Given the description of an element on the screen output the (x, y) to click on. 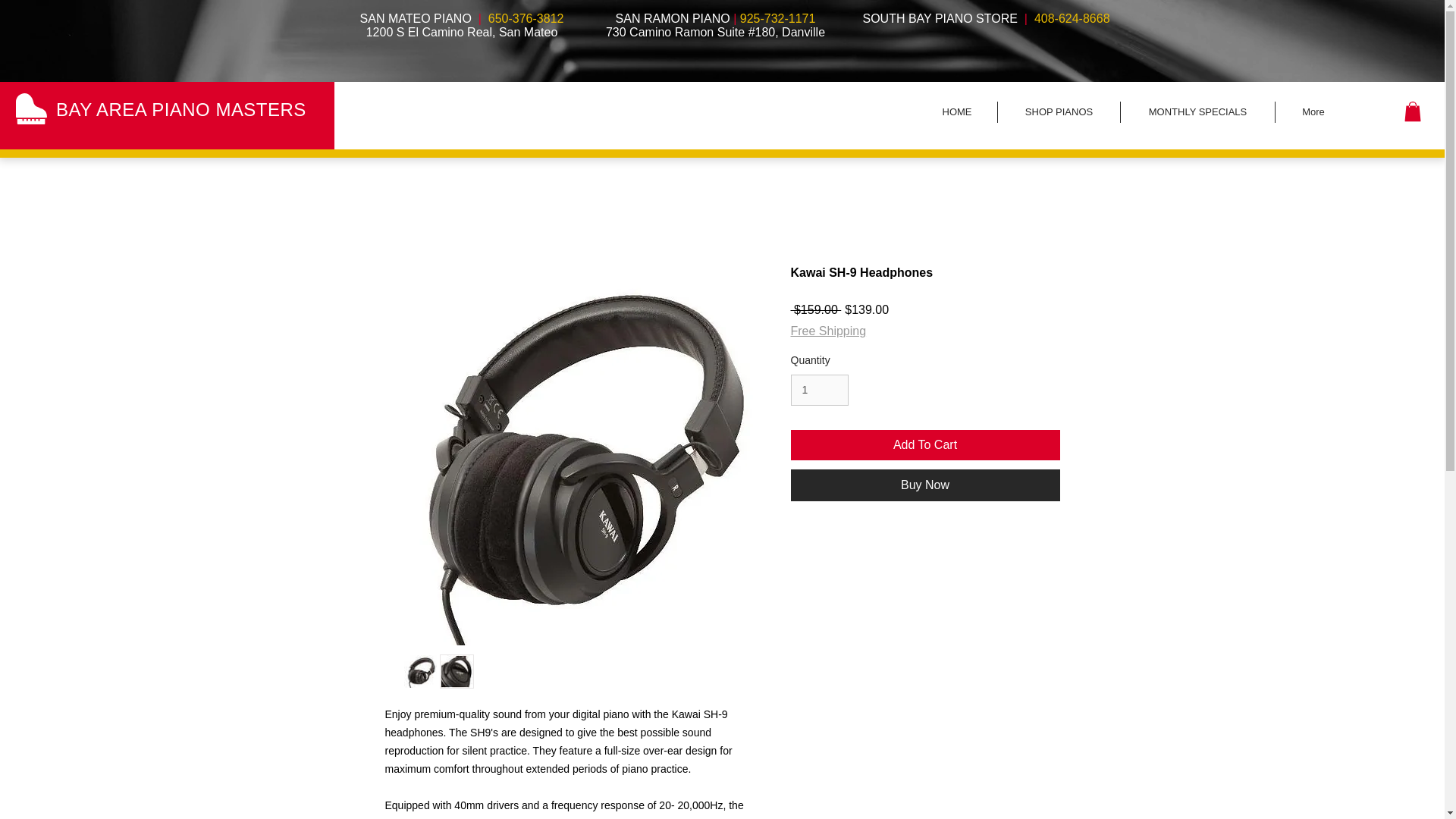
408-624-8668 (1071, 18)
Buy Now (924, 485)
1 (818, 389)
HOME (957, 111)
650-376-3812 (525, 18)
Free Shipping (828, 331)
SHOP PIANOS (1058, 111)
SAN MATEO PIANO  (417, 18)
MONTHLY SPECIALS (1197, 111)
SOUTH BAY PIANO STORE  (940, 18)
